Given the description of an element on the screen output the (x, y) to click on. 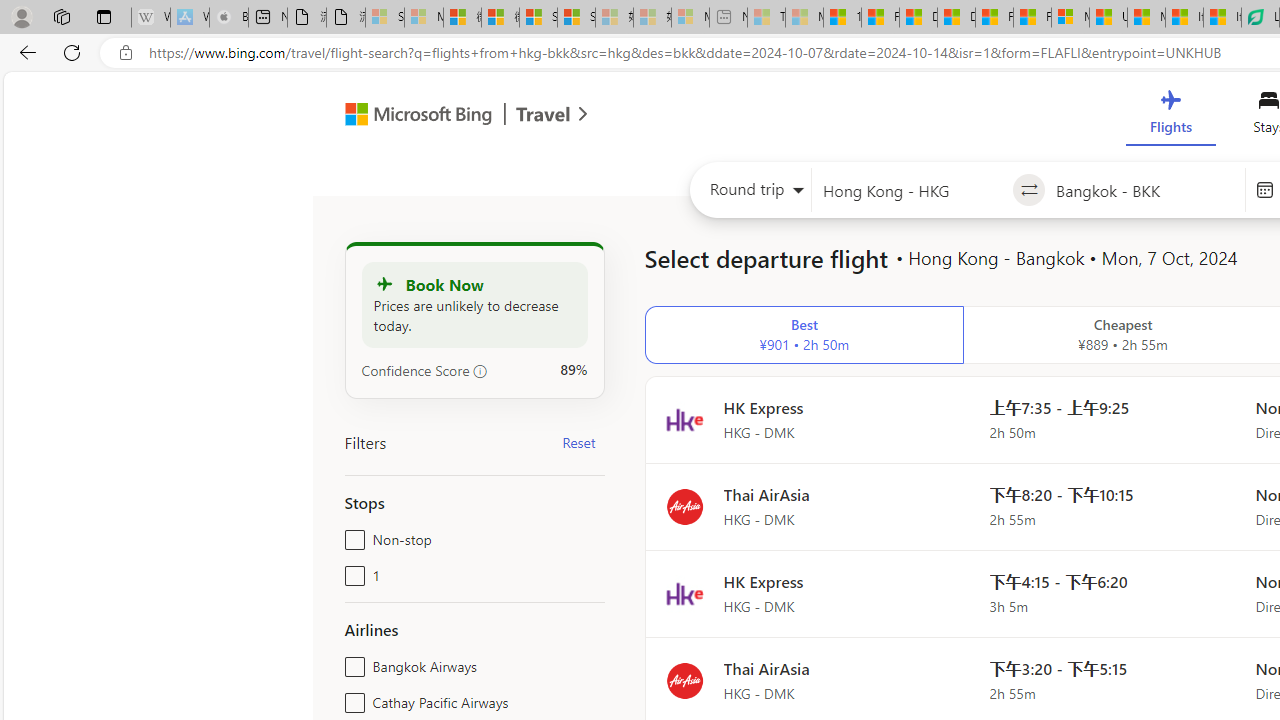
Select trip type (750, 193)
Buy iPad - Apple - Sleeping (228, 17)
Food and Drink - MSN (879, 17)
Going to? (1145, 190)
Microsoft Bing (410, 116)
Info tooltip (480, 371)
Drinking tea every day is proven to delay biological aging (956, 17)
Bangkok Airways (351, 662)
Swap source and destination (1028, 189)
1 (351, 571)
